Given the description of an element on the screen output the (x, y) to click on. 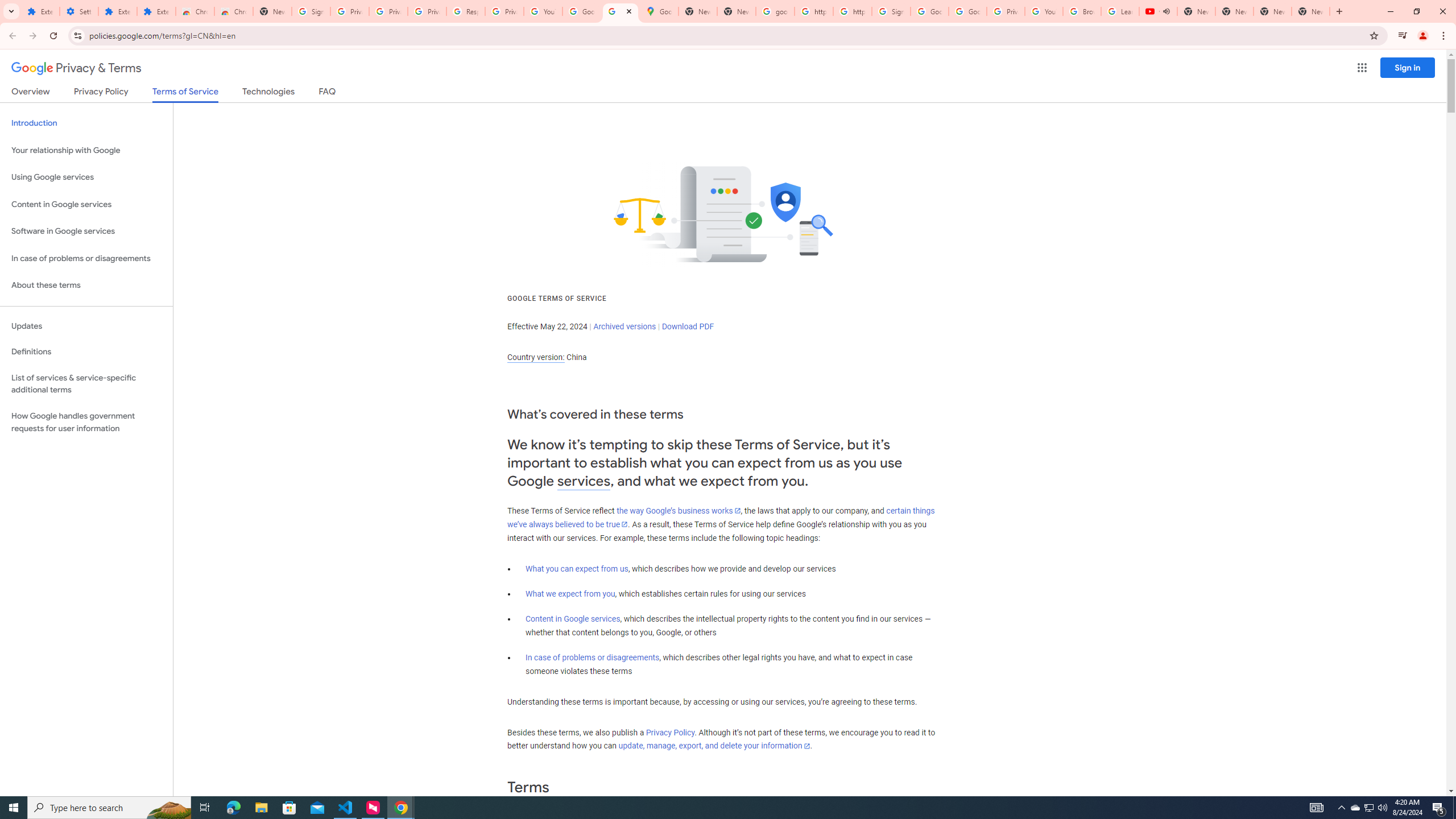
What we expect from you (570, 593)
Extensions (117, 11)
YouTube (542, 11)
https://scholar.google.com/ (813, 11)
Extensions (40, 11)
YouTube (1043, 11)
New Tab (1311, 11)
